Given the description of an element on the screen output the (x, y) to click on. 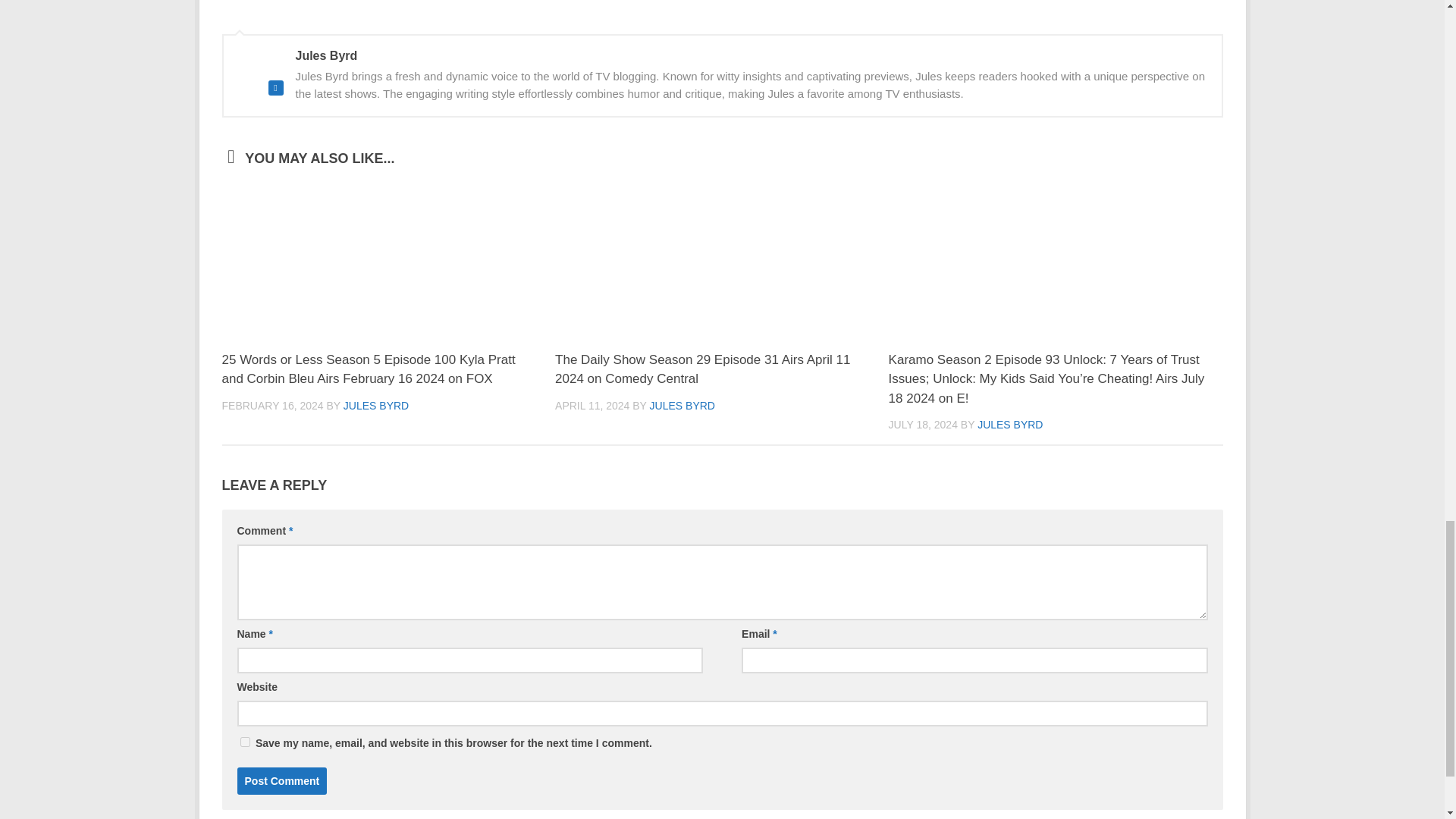
JULES BYRD (376, 405)
Post Comment (280, 780)
yes (244, 741)
JULES BYRD (681, 405)
Posts by Jules Byrd (1009, 424)
Posts by Jules Byrd (681, 405)
Post Comment (280, 780)
Posts by Jules Byrd (376, 405)
